Given the description of an element on the screen output the (x, y) to click on. 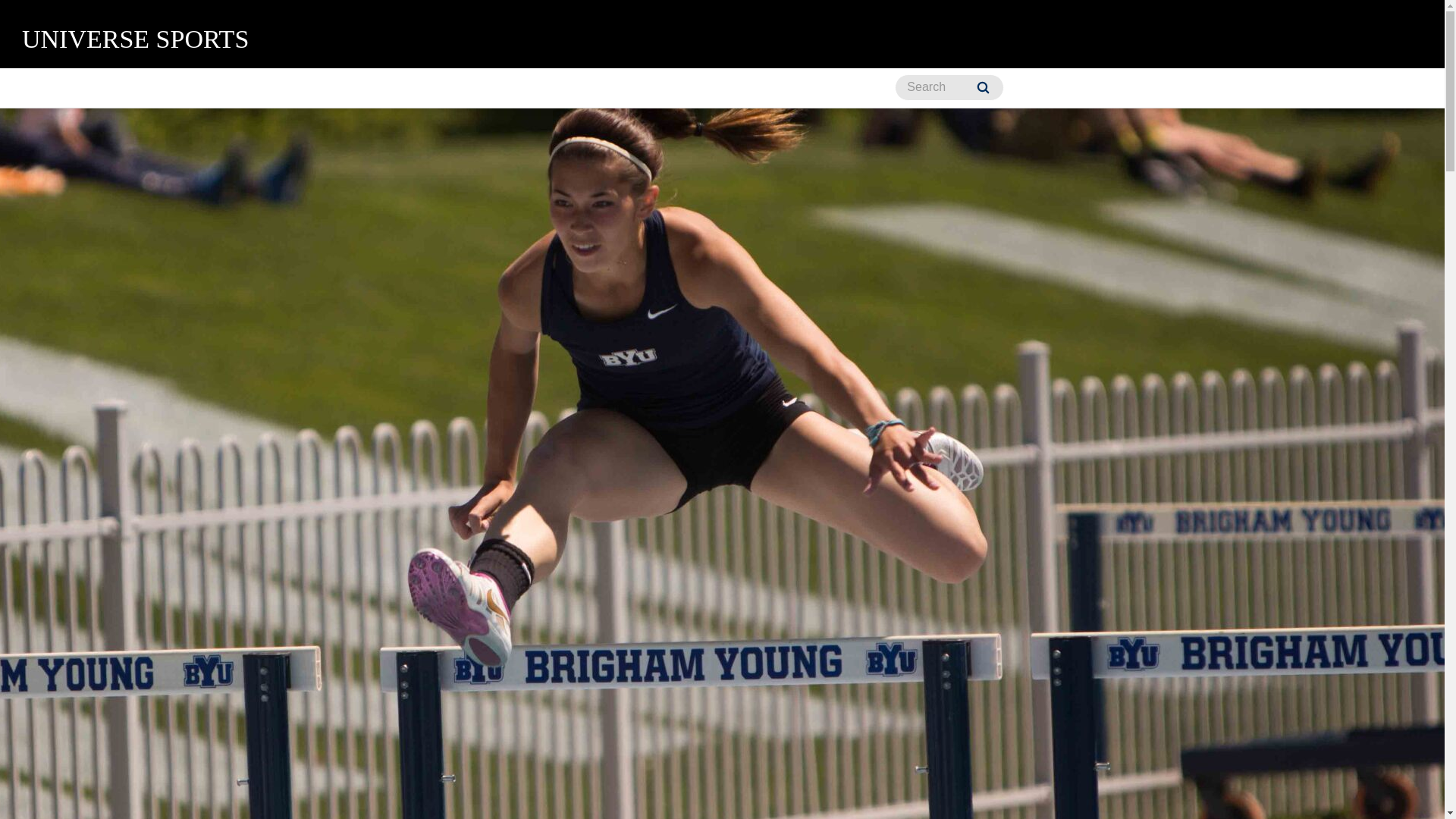
Swim and Dive (559, 87)
Tennis (652, 87)
Golf (472, 87)
Cross Country (308, 87)
Volleyball (850, 87)
UNIVERSE SPORTS (134, 39)
Football (404, 87)
Search (982, 87)
Track and Field (748, 87)
Basketball (138, 87)
